Given the description of an element on the screen output the (x, y) to click on. 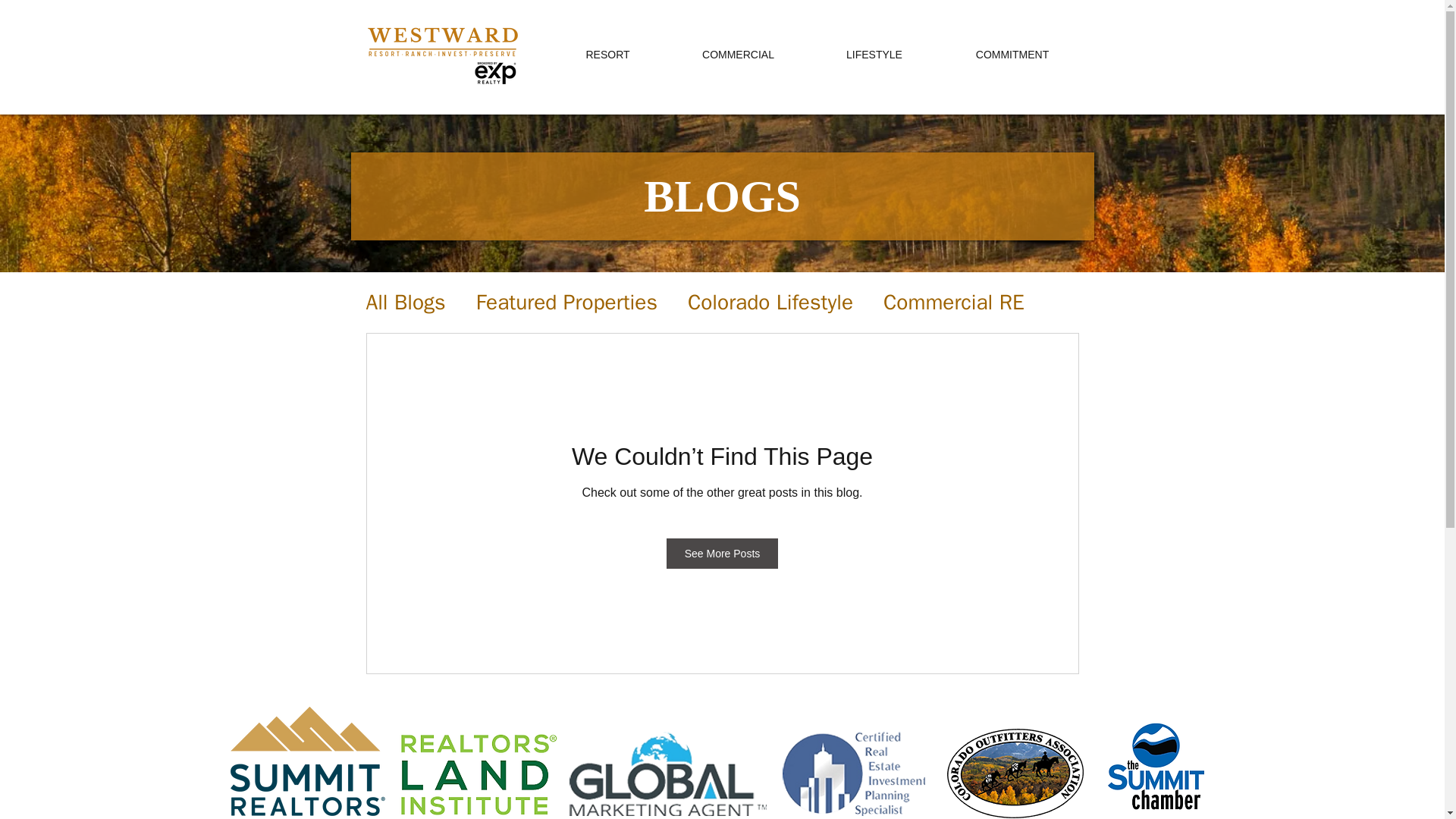
LIFESTYLE (873, 54)
See More Posts (722, 553)
Commercial RE (954, 302)
All Blogs (405, 302)
Featured Properties (567, 302)
Colorado Lifestyle (770, 302)
COMMERCIAL (737, 54)
COMMITMENT (1012, 54)
RESORT (606, 54)
logo.png (307, 760)
